Given the description of an element on the screen output the (x, y) to click on. 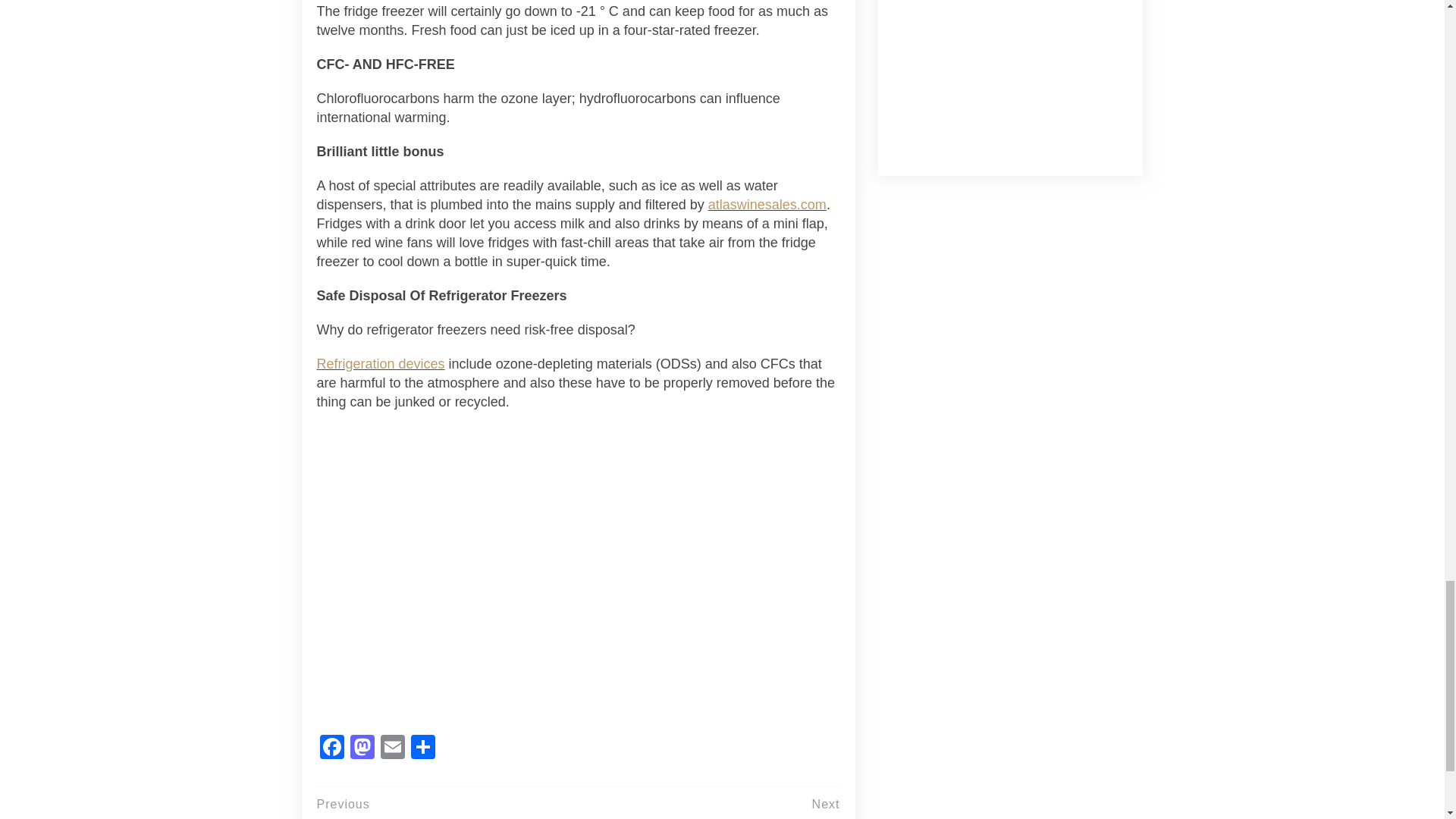
Facebook (332, 748)
atlaswinesales.com (767, 204)
Email (392, 748)
Refrigeration devices (381, 363)
Email (392, 748)
Facebook (332, 748)
Next (826, 803)
Previous (343, 803)
Mastodon (362, 748)
Mastodon (362, 748)
